Given the description of an element on the screen output the (x, y) to click on. 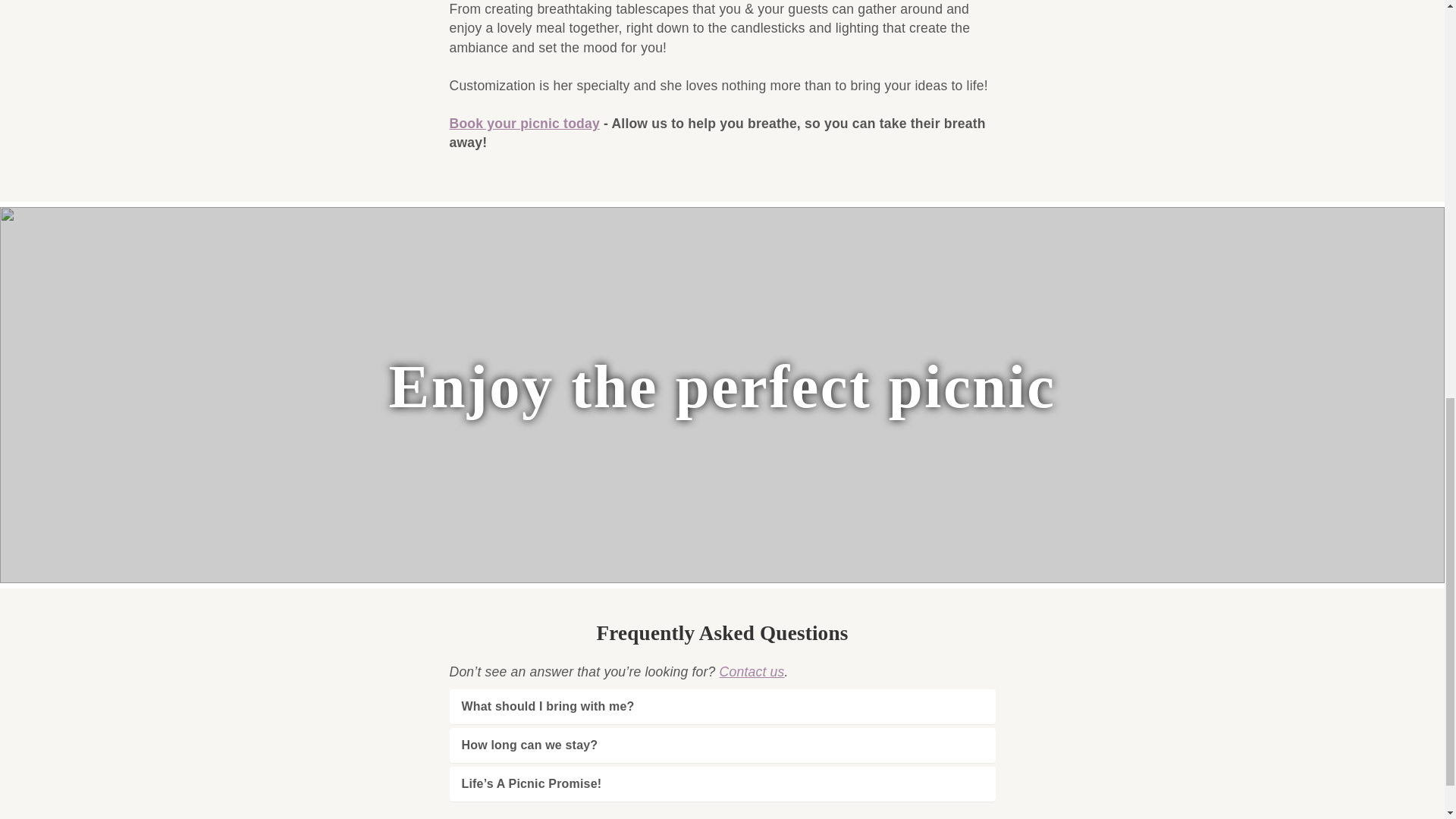
What should I bring with me? (721, 706)
How long can we stay? (721, 745)
Contact us (751, 671)
Book your picnic today (523, 123)
